Given the description of an element on the screen output the (x, y) to click on. 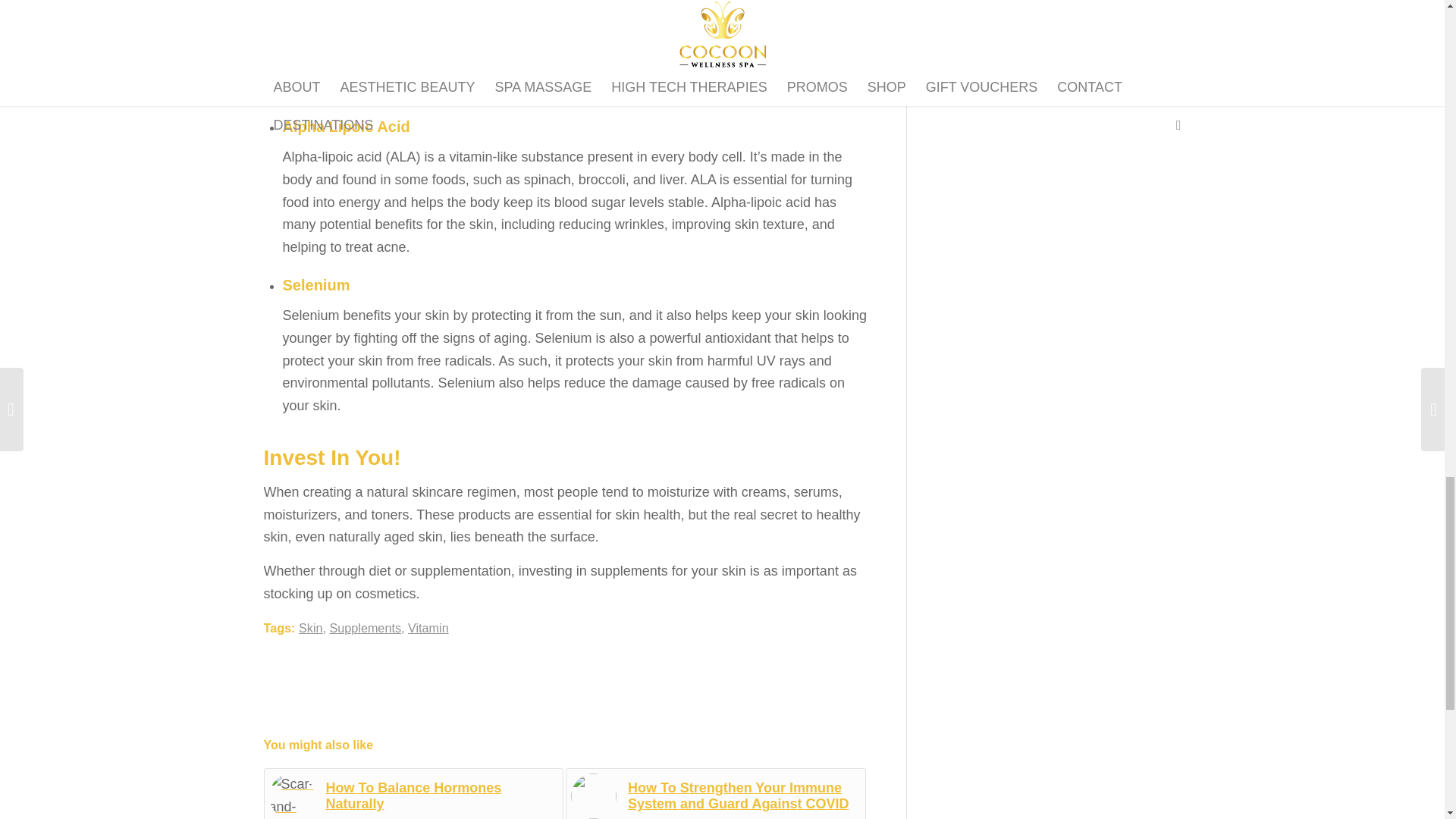
Couple Yoga photoshoot with white background. (592, 796)
How To Strengthen Your Immune System and Guard Against COVID (716, 793)
How To Balance Hormones Naturally (413, 793)
Scar-and-stretch-mark-reduction (290, 796)
